Given the description of an element on the screen output the (x, y) to click on. 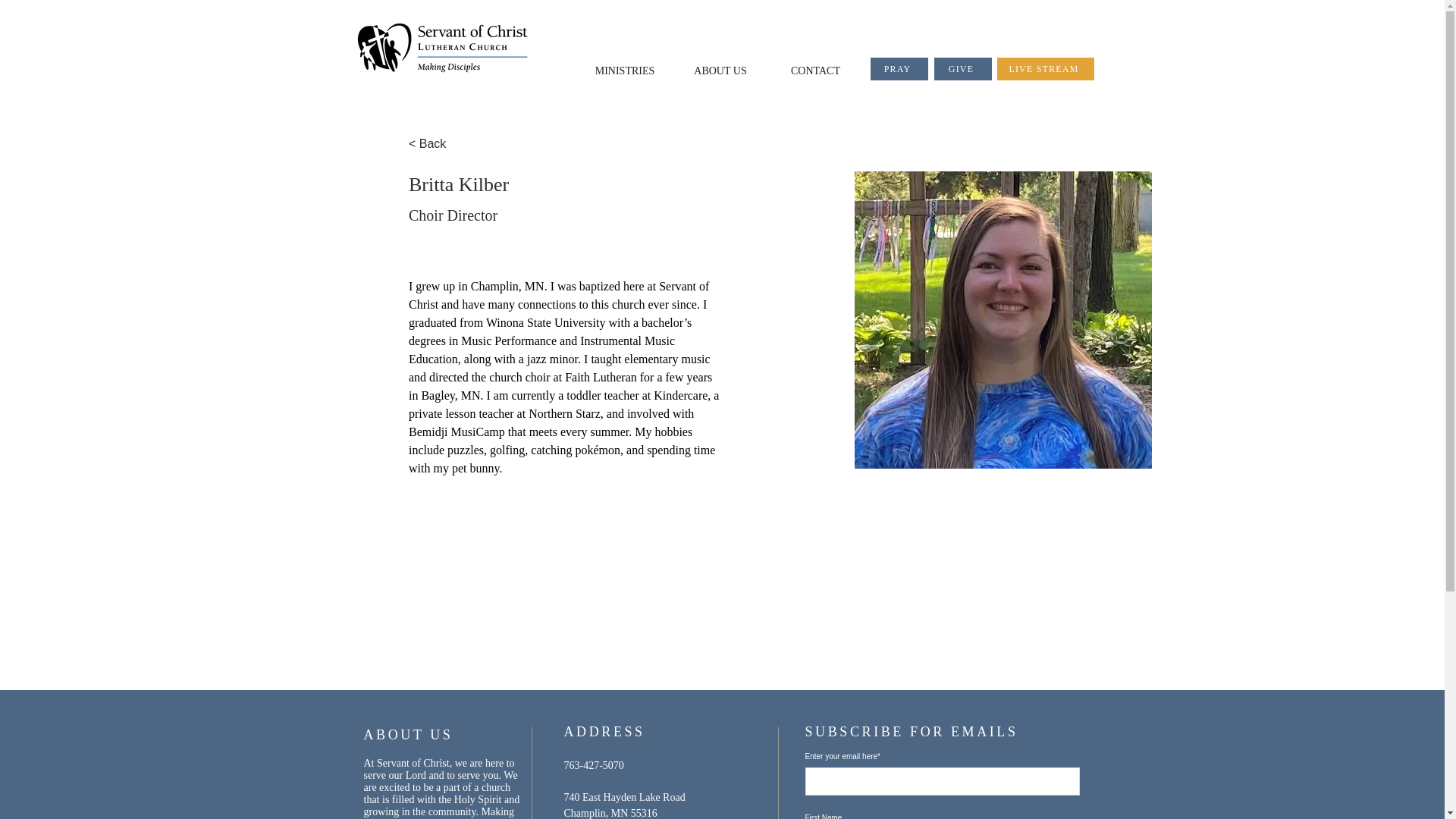
Britta.jpg (1002, 319)
CONTACT (815, 70)
PRAY (899, 68)
GIVE (962, 68)
LIVE STREAM (1044, 68)
ABOUT US (720, 70)
